Given the description of an element on the screen output the (x, y) to click on. 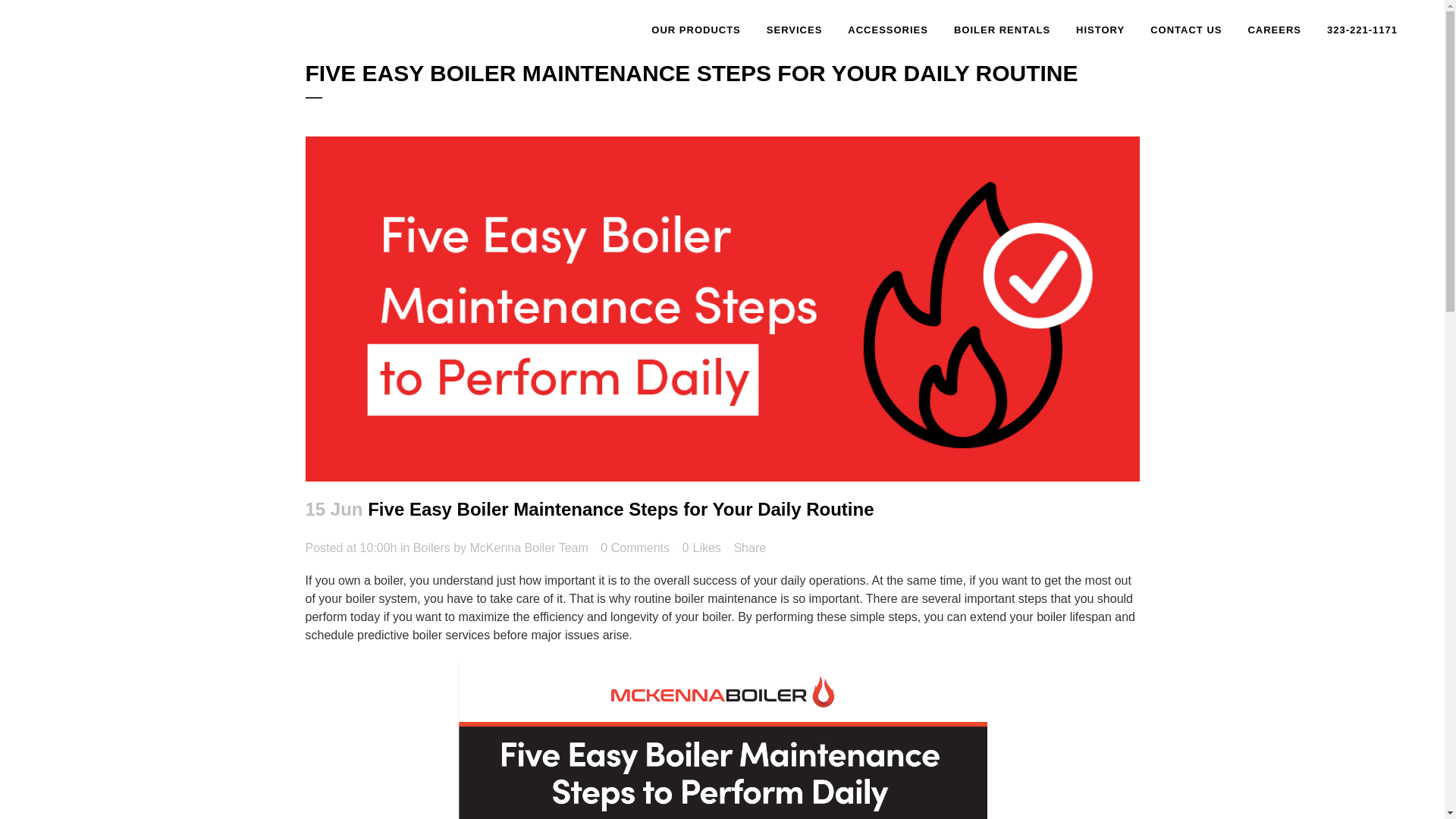
0 Likes (701, 547)
OUR PRODUCTS (695, 30)
0 Comments (634, 547)
Boilers (431, 547)
323-221-1171 (1362, 30)
CONTACT US (1185, 30)
BOILER RENTALS (1001, 30)
ACCESSORIES (887, 30)
Like this (701, 547)
McKenna Boiler Team (529, 547)
